Given the description of an element on the screen output the (x, y) to click on. 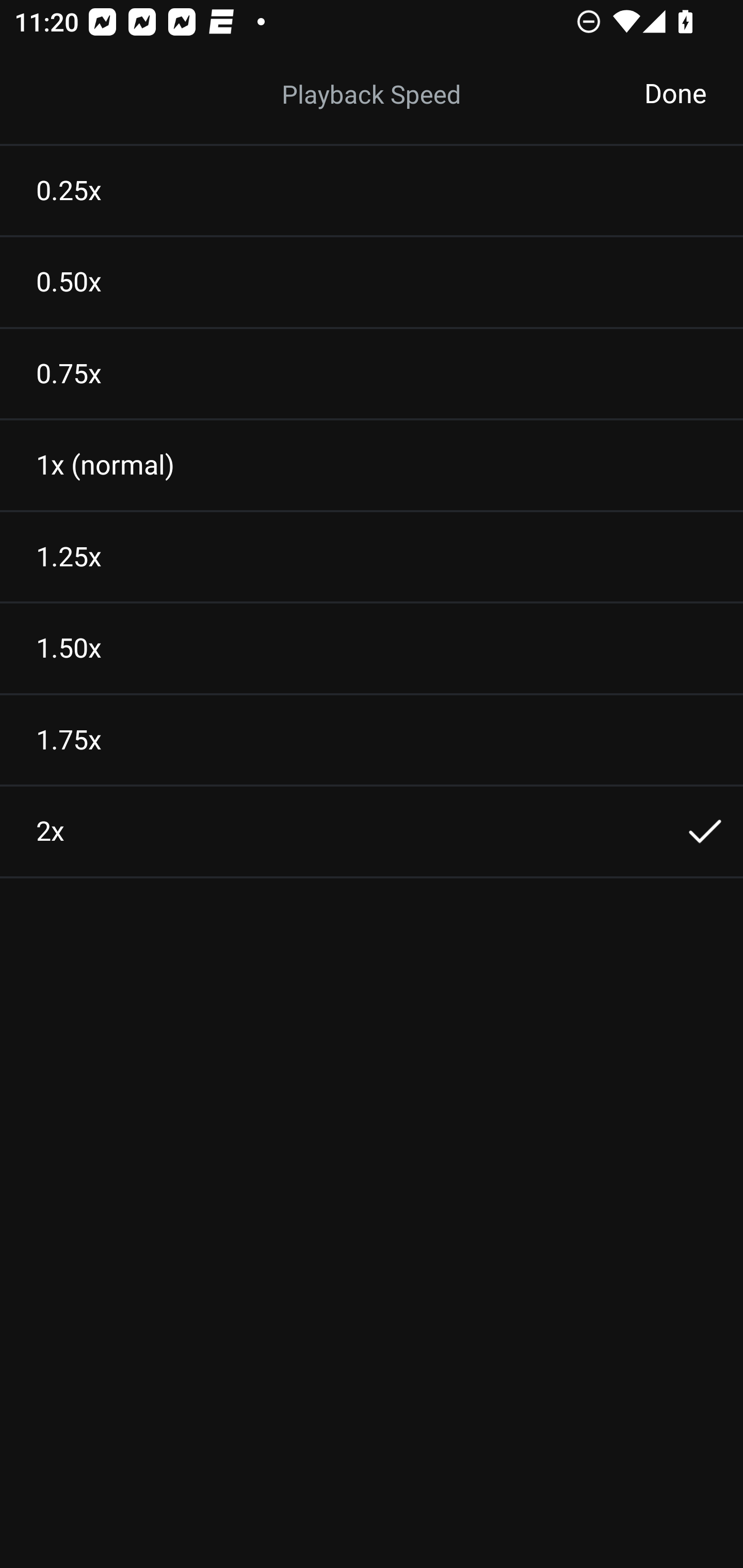
Listening (371, 93)
Done (675, 93)
0.25x (371, 190)
0.50x (371, 281)
0.75x (371, 373)
1x (normal) (371, 464)
1.25x (371, 557)
1.50x (371, 648)
1.75x (371, 739)
2x (371, 831)
